Given the description of an element on the screen output the (x, y) to click on. 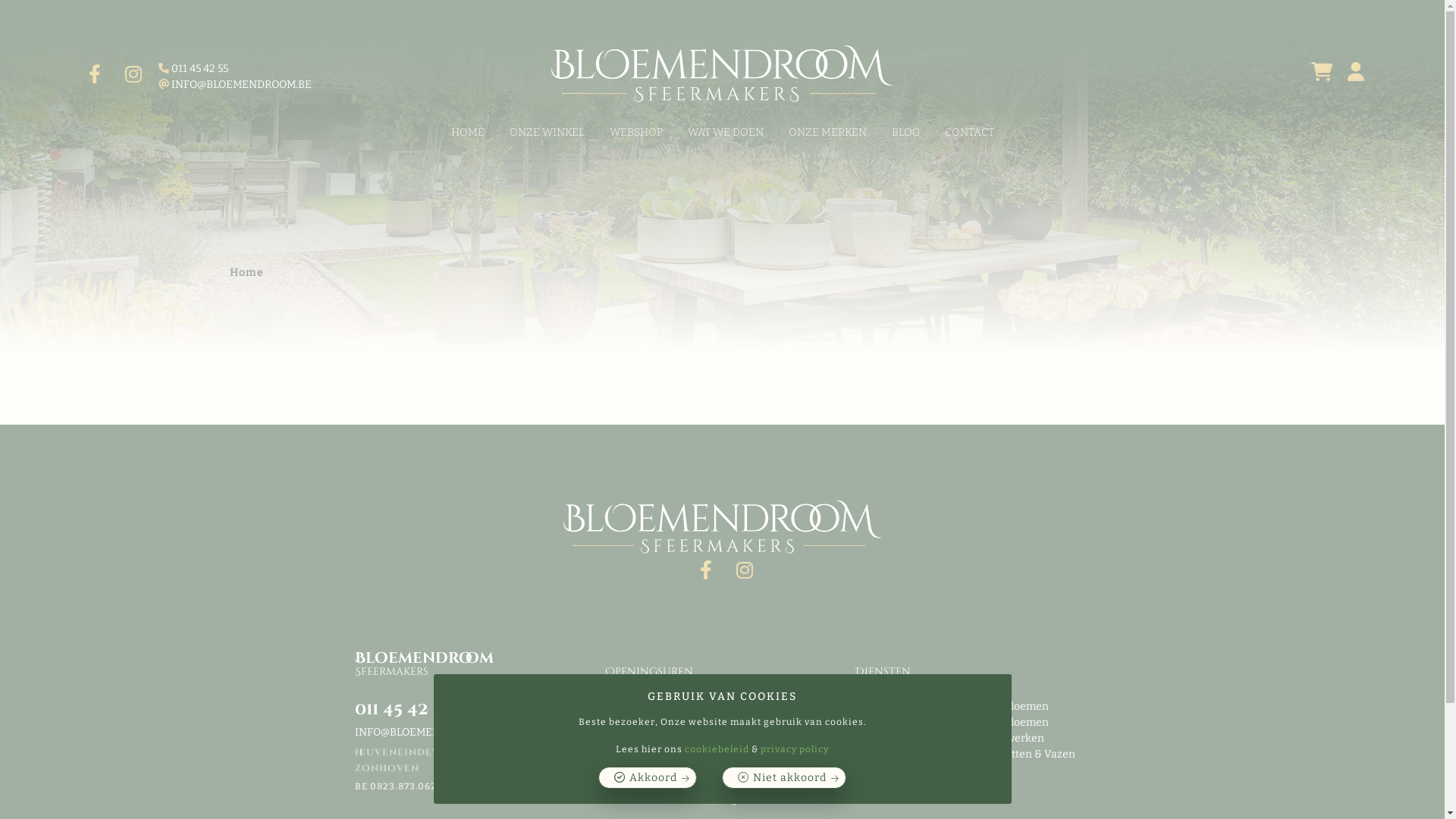
cookiebeleid Element type: text (716, 748)
Home Element type: text (246, 272)
Potten & Vazen Element type: text (1039, 754)
Niet akkoord Element type: text (783, 777)
Terrasbeplanting Element type: text (899, 737)
ONZE MERKEN Element type: text (826, 132)
Akkoord Element type: text (647, 777)
Buitendecoratie Element type: text (897, 769)
CONTACT Element type: text (968, 132)
011 45 42 55 Element type: text (231, 68)
Bezorgen Element type: text (944, 722)
privacy policy Element type: text (794, 748)
BLOG Element type: text (904, 132)
Kantoorbeplanting Element type: text (904, 754)
INFO@BLOEMENDROOM.BE Element type: text (424, 730)
Bruidswerk Element type: text (885, 722)
Rouwbloemwerken Element type: text (997, 737)
HOME Element type: text (467, 132)
Bloemabonnementen Element type: text (911, 705)
WAT WE DOEN Element type: text (725, 132)
INFO@BLOEMENDROOM.BE Element type: text (231, 84)
Zijden bloemen Element type: text (1011, 705)
WEBSHOP Element type: text (635, 132)
ONZE WINKEL Element type: text (546, 132)
011 45 42 55 Element type: text (402, 708)
Verse Bloemen Element type: text (1012, 722)
Boeken Element type: text (976, 754)
